Given the description of an element on the screen output the (x, y) to click on. 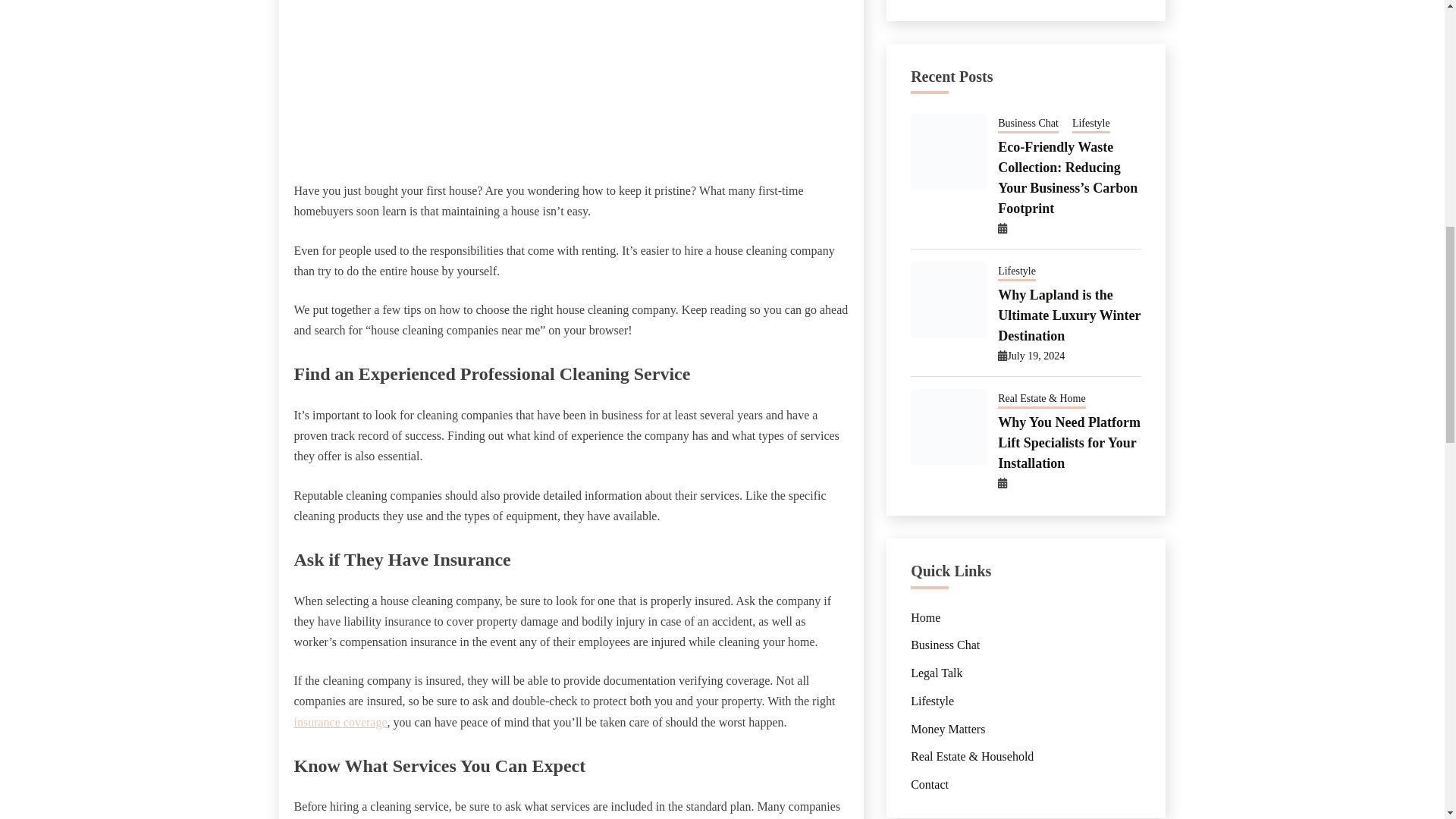
insurance coverage (340, 721)
Lifestyle (1090, 124)
Business Chat (1027, 124)
